Given the description of an element on the screen output the (x, y) to click on. 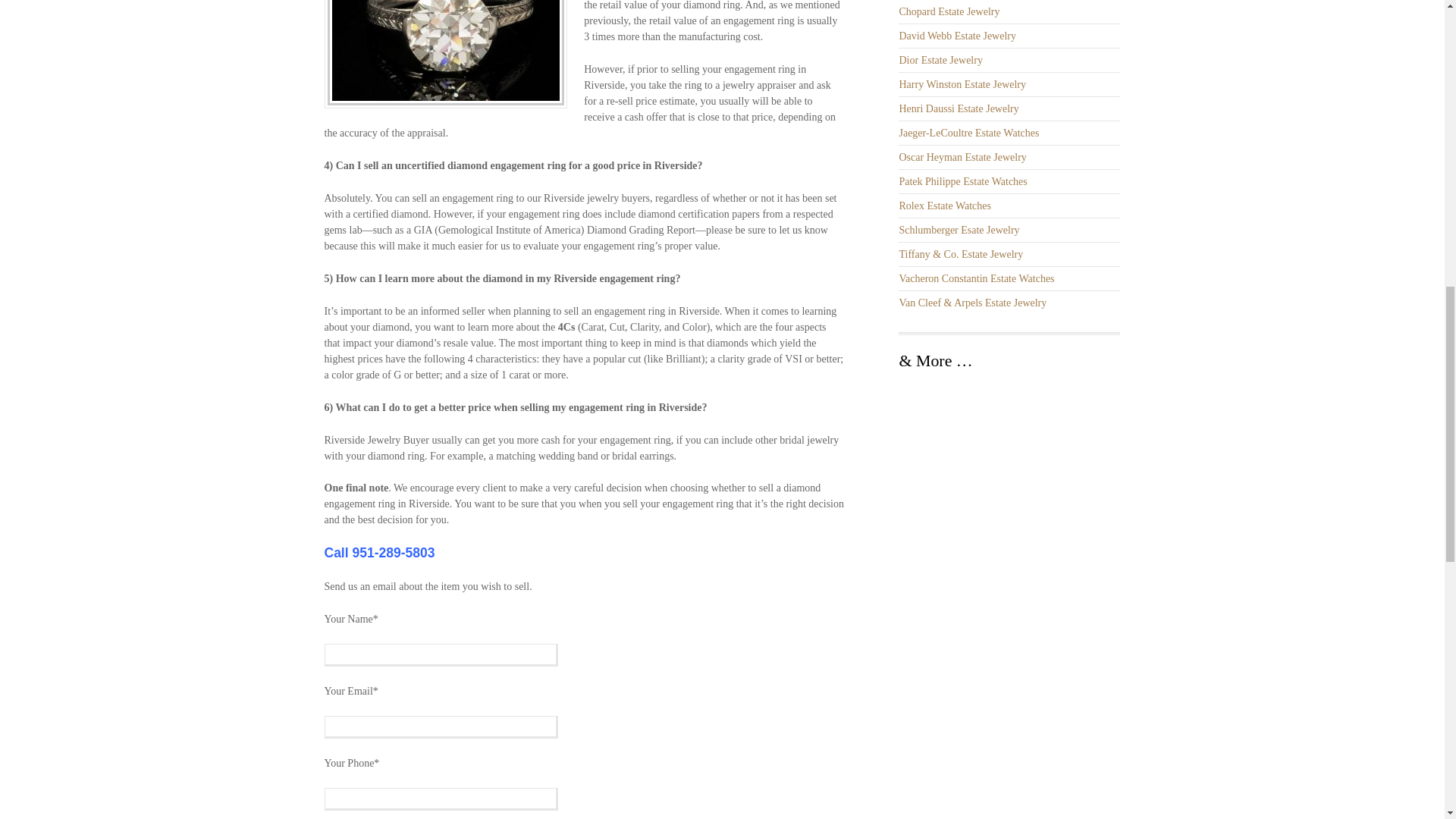
Jaeger-LeCoultre Estate Watches (968, 132)
Rolex Estate Watches (944, 205)
Oscar Heyman Estate Jewelry (962, 156)
Chopard Estate Jewelry (948, 11)
Henri Daussi Estate Jewelry (957, 108)
Harry Winston Estate Jewelry (962, 84)
David Webb Estate Jewelry (957, 35)
Dior Estate Jewelry (939, 60)
Schlumberger Esate Jewelry (958, 229)
Patek Philippe Estate Watches (962, 181)
Call 951-289-5803 (379, 552)
